Given the description of an element on the screen output the (x, y) to click on. 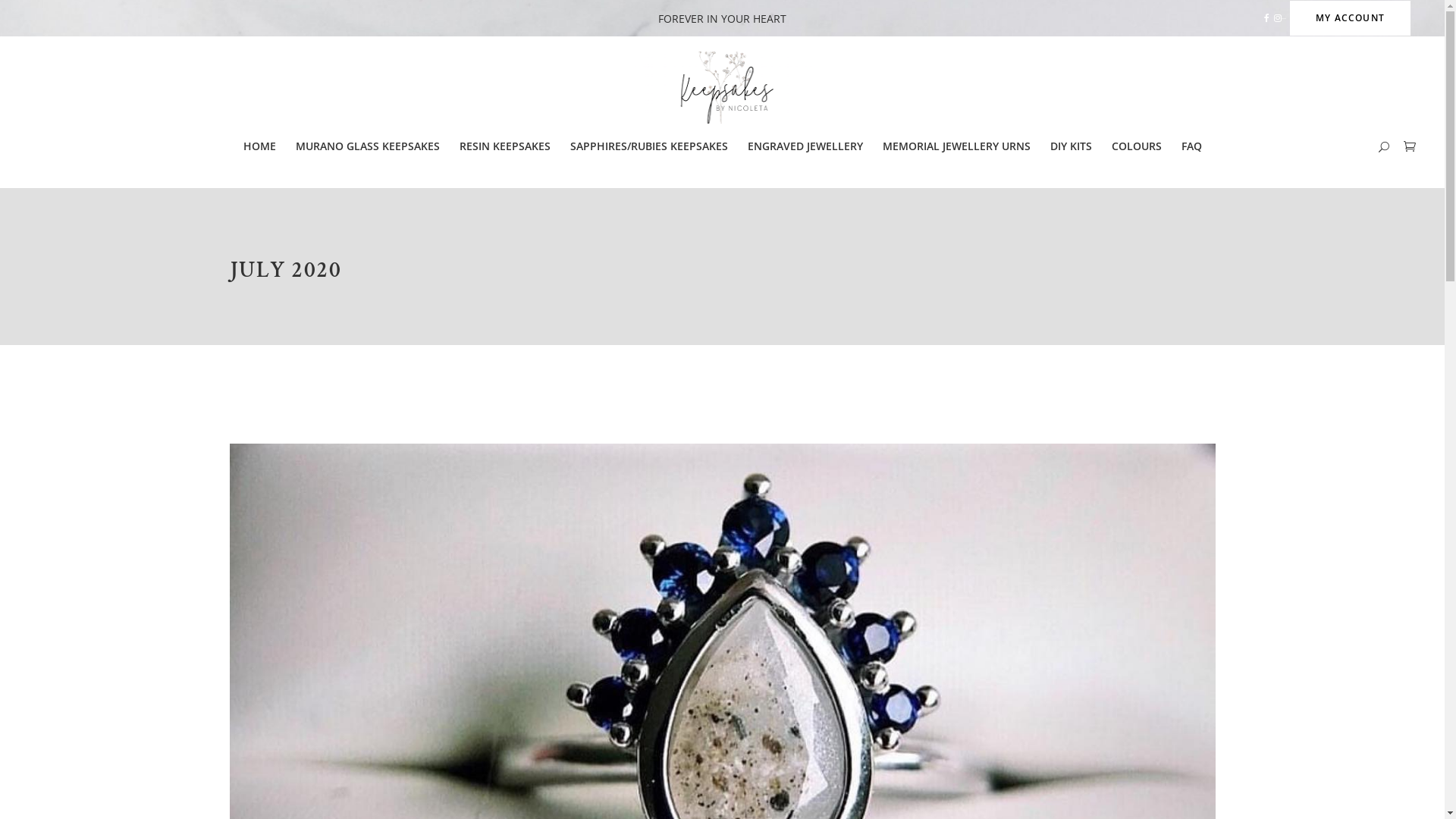
ENGRAVED JEWELLERY Element type: text (804, 146)
MY ACCOUNT Element type: text (1349, 17)
COLOURS Element type: text (1135, 146)
RESIN KEEPSAKES Element type: text (503, 146)
DIY KITS Element type: text (1070, 146)
FAQ Element type: text (1190, 146)
MURANO GLASS KEEPSAKES Element type: text (366, 146)
MEMORIAL JEWELLERY URNS Element type: text (955, 146)
HOME Element type: text (259, 146)
SAPPHIRES/RUBIES KEEPSAKES Element type: text (648, 146)
